Given the description of an element on the screen output the (x, y) to click on. 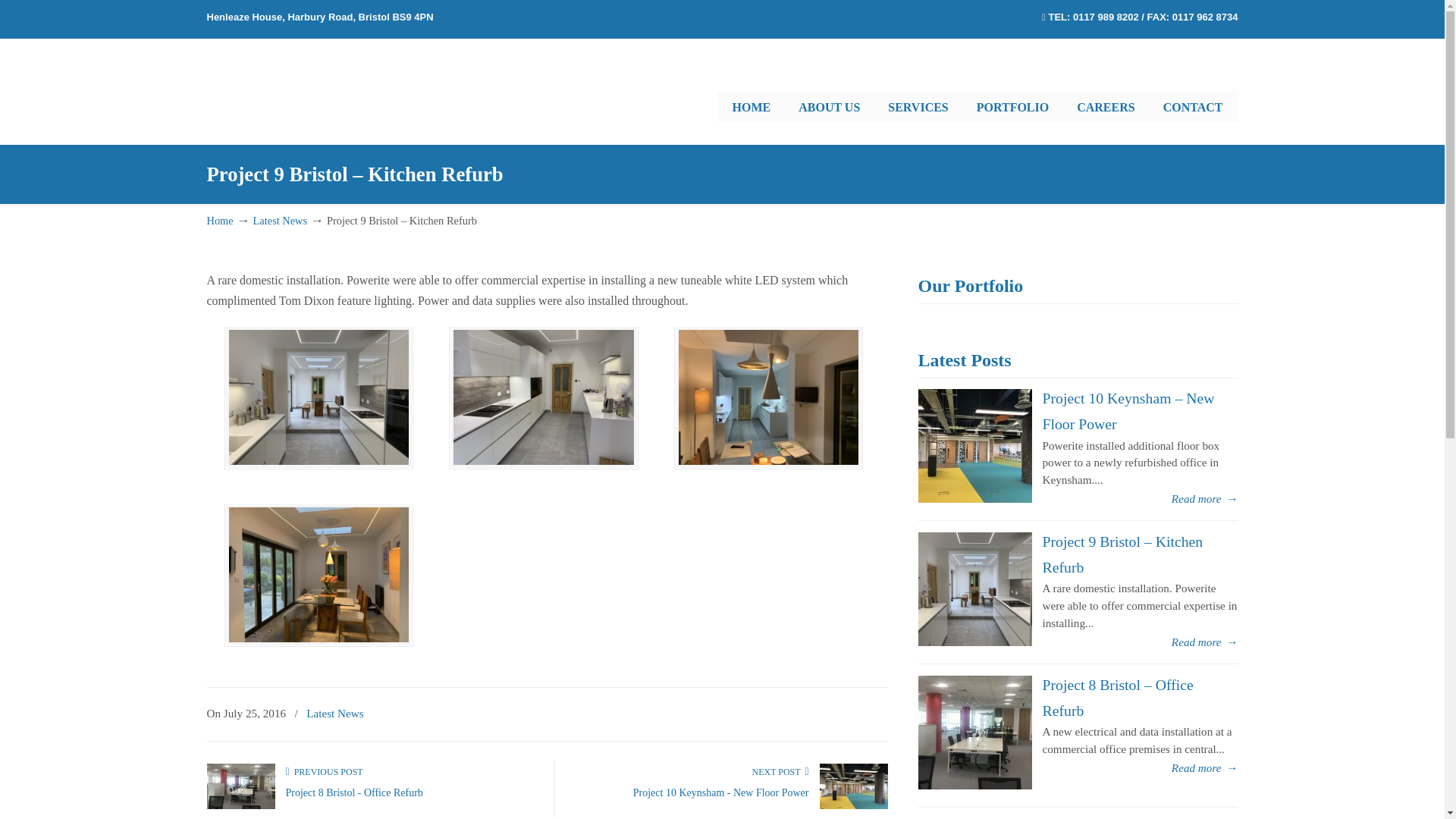
Latest News (334, 713)
CONTACT (1193, 107)
SERVICES (917, 107)
Home (219, 220)
Project 10 Keynsham - New Floor Power (721, 792)
CAREERS (1105, 107)
NEXT POST   (779, 771)
ABOUT US (829, 107)
 PREVIOUS POST (323, 771)
Powerite Contracting Ltd (348, 80)
Go to next post (779, 771)
Project 8 Bristol - Office Refurb (353, 792)
Project 8 Bristol - Office Refurb (353, 792)
Go to previous post (323, 771)
Powerite Contracting Ltd (348, 80)
